Given the description of an element on the screen output the (x, y) to click on. 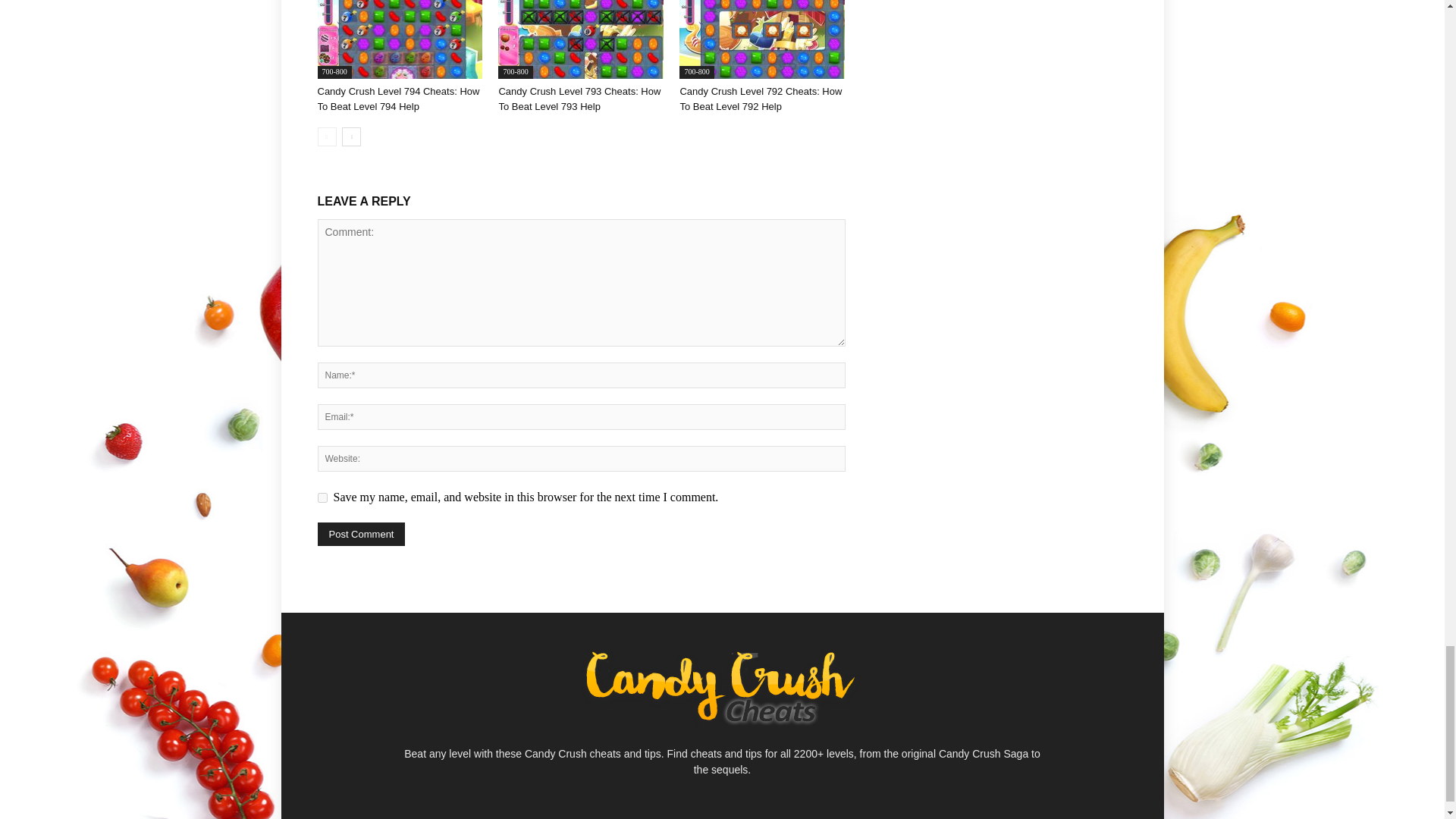
yes (321, 497)
Post Comment (360, 534)
